Given the description of an element on the screen output the (x, y) to click on. 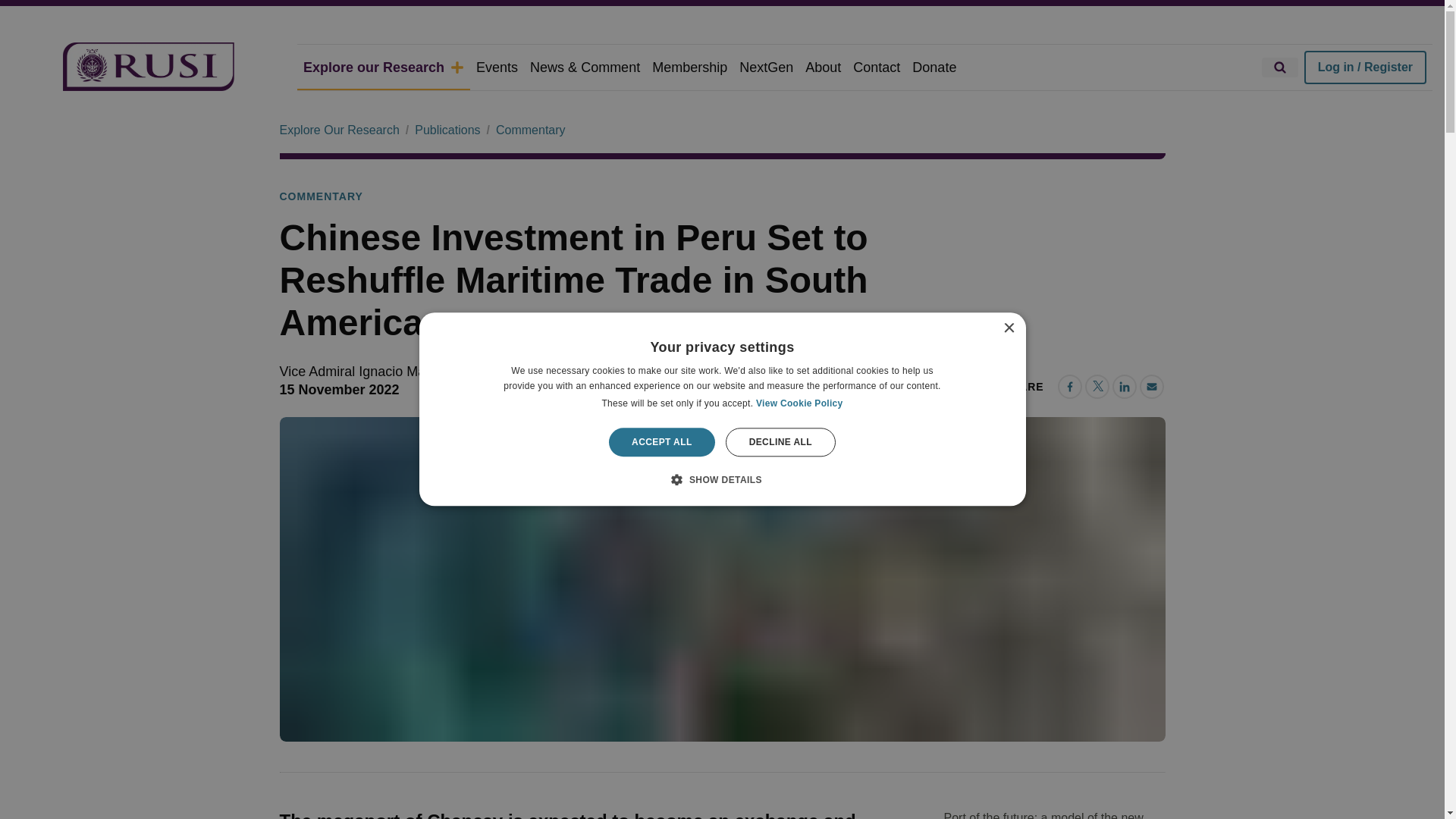
Donate (933, 67)
NextGen (766, 67)
Contact (876, 67)
About (823, 67)
Search RUSI (1280, 66)
Membership (689, 67)
COMMENTARY (320, 196)
Explore our Research (383, 67)
Log in (1365, 67)
Events (497, 67)
